Given the description of an element on the screen output the (x, y) to click on. 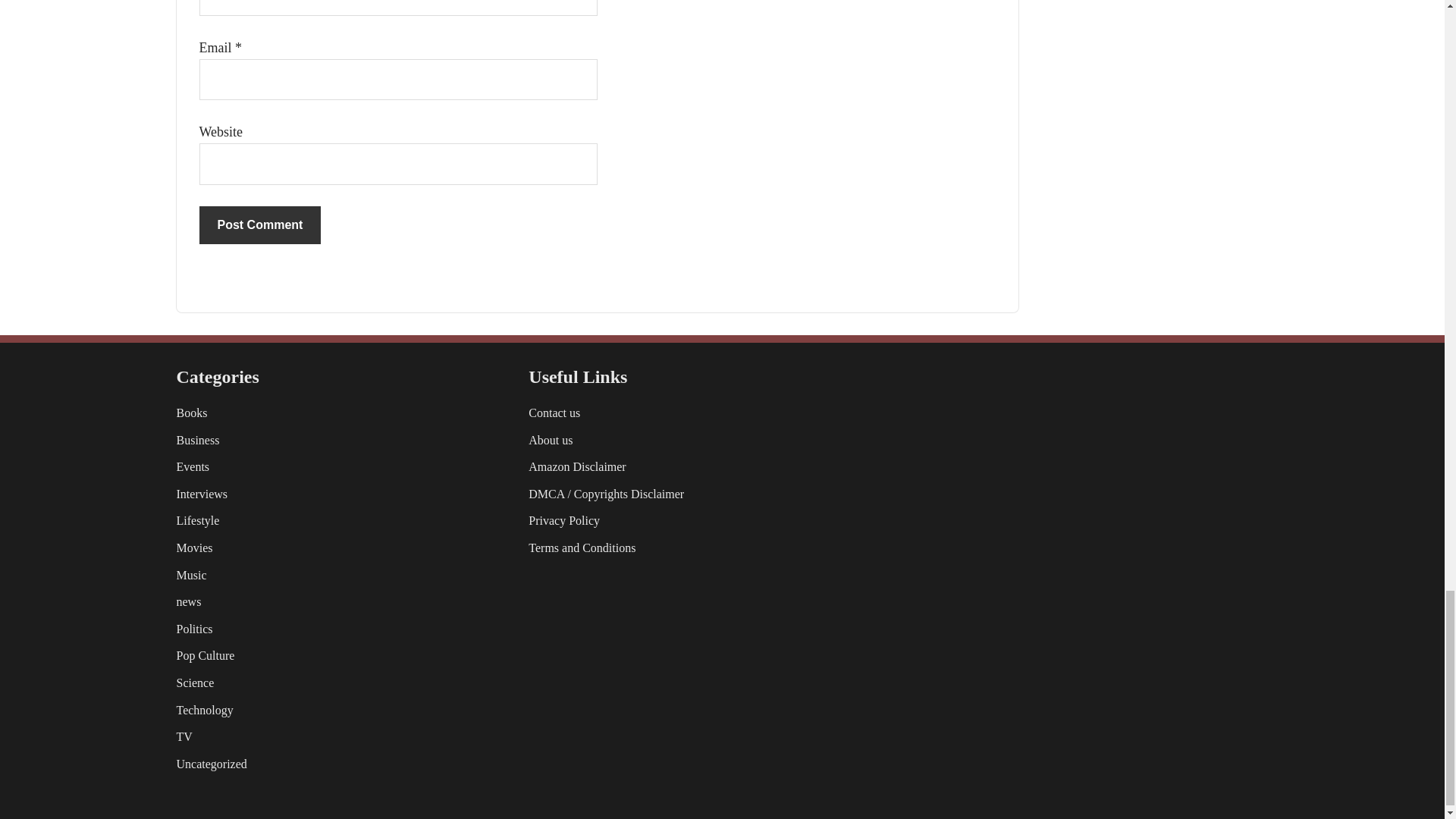
Post Comment (259, 225)
